Given the description of an element on the screen output the (x, y) to click on. 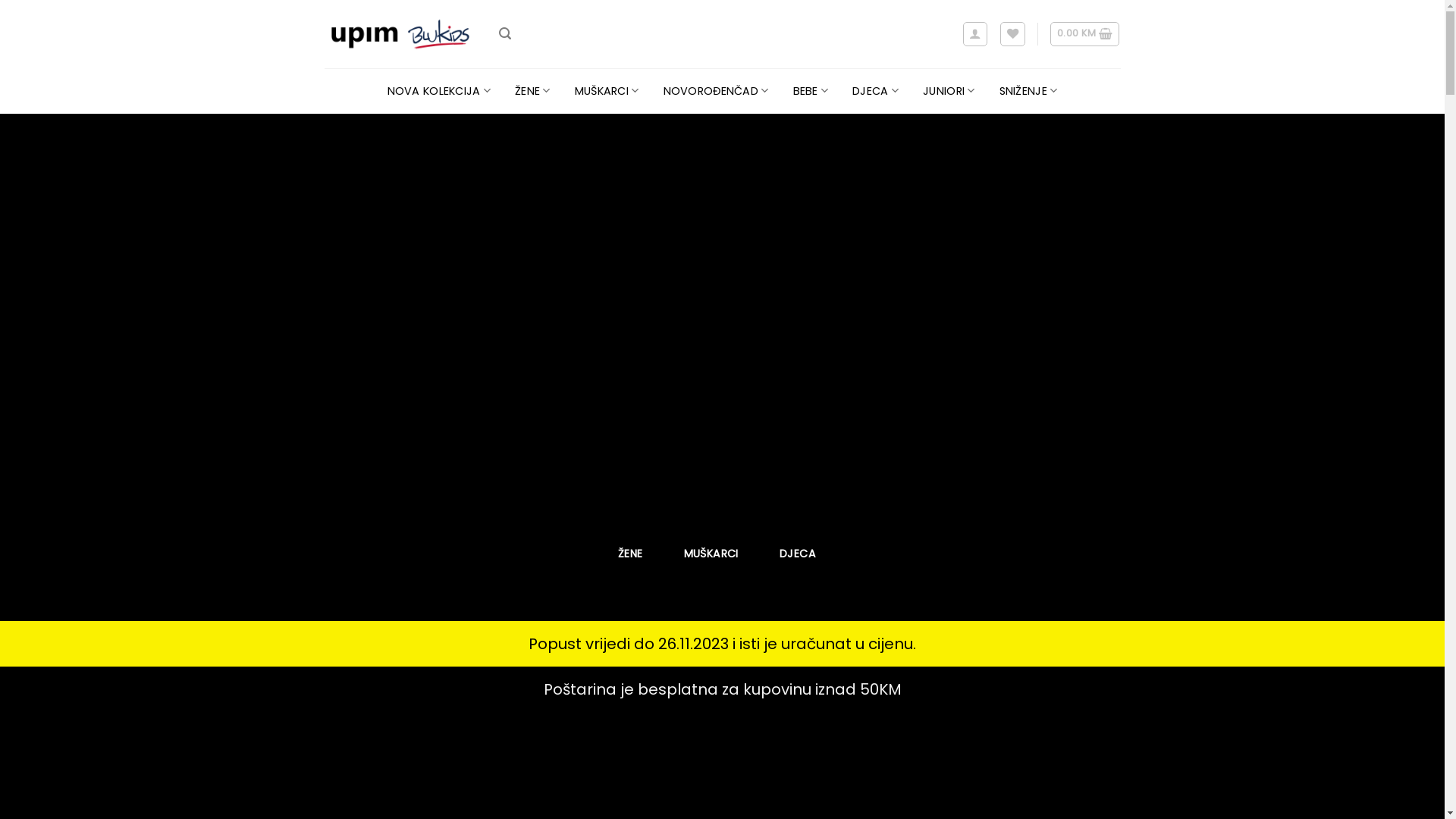
DJECA Element type: text (875, 90)
NOVA KOLEKCIJA Element type: text (439, 90)
DJECA Element type: text (797, 553)
BEBE Element type: text (810, 90)
JUNIORI Element type: text (948, 90)
0.00 KM Element type: text (1084, 33)
Skip to content Element type: text (0, 0)
